Given the description of an element on the screen output the (x, y) to click on. 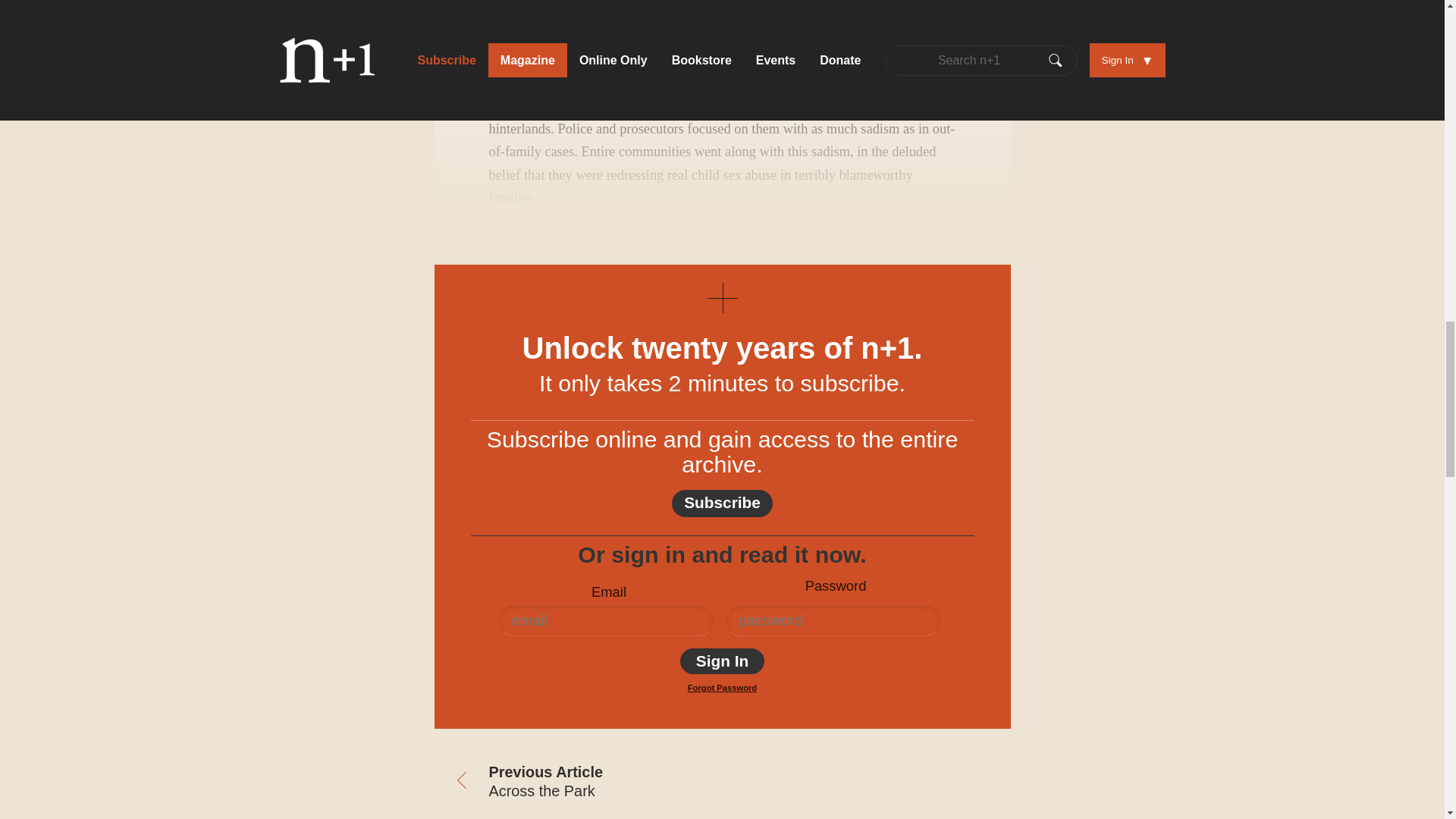
Subscribe (722, 502)
Sign In (721, 661)
Forgot Password (722, 687)
Sign In (721, 661)
Across the Park (577, 783)
